Given the description of an element on the screen output the (x, y) to click on. 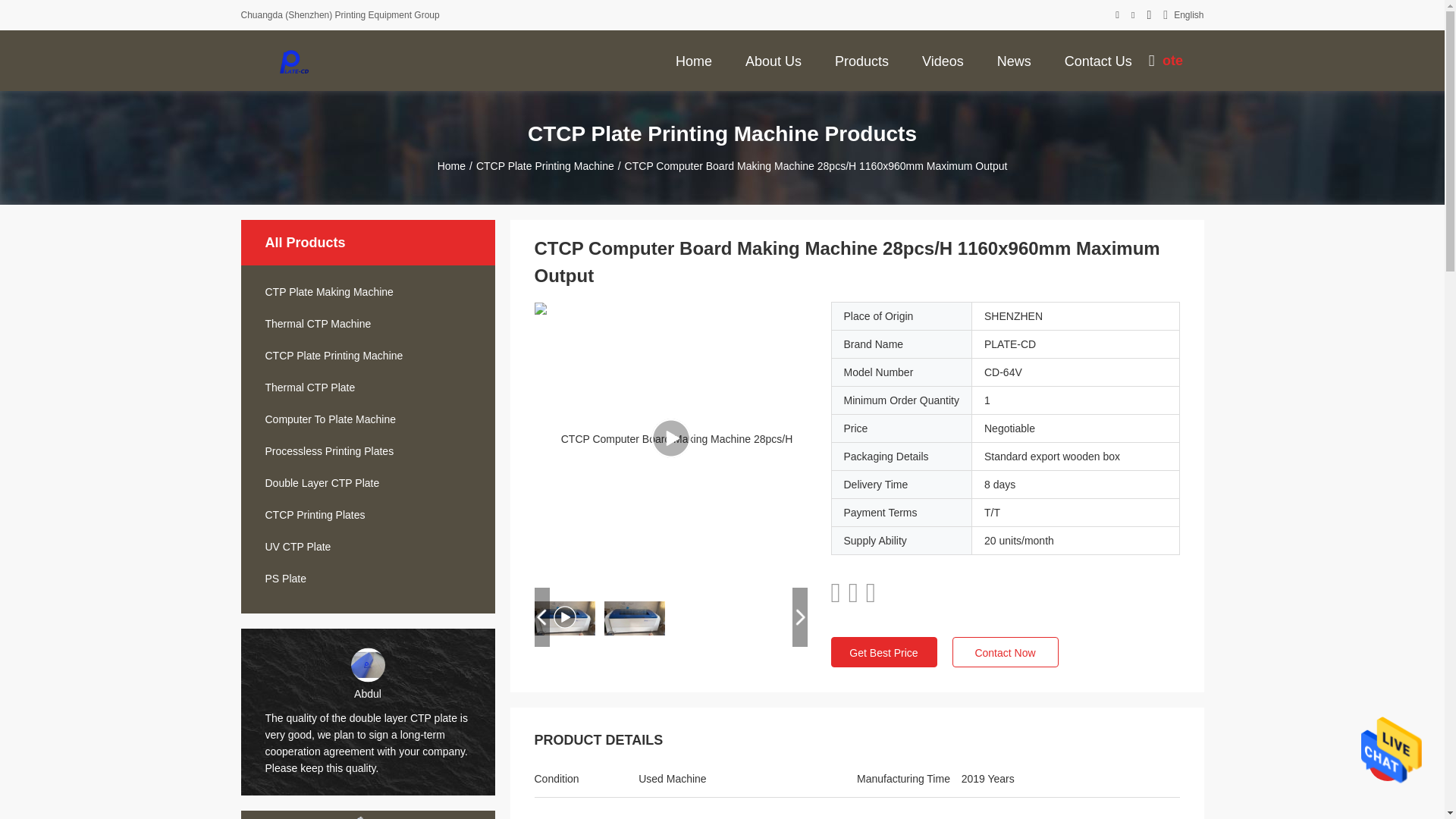
Contact Us (1098, 60)
Videos (942, 60)
Home (693, 60)
Products (861, 60)
About Us (773, 60)
About Us (773, 60)
Home (693, 60)
